Given the description of an element on the screen output the (x, y) to click on. 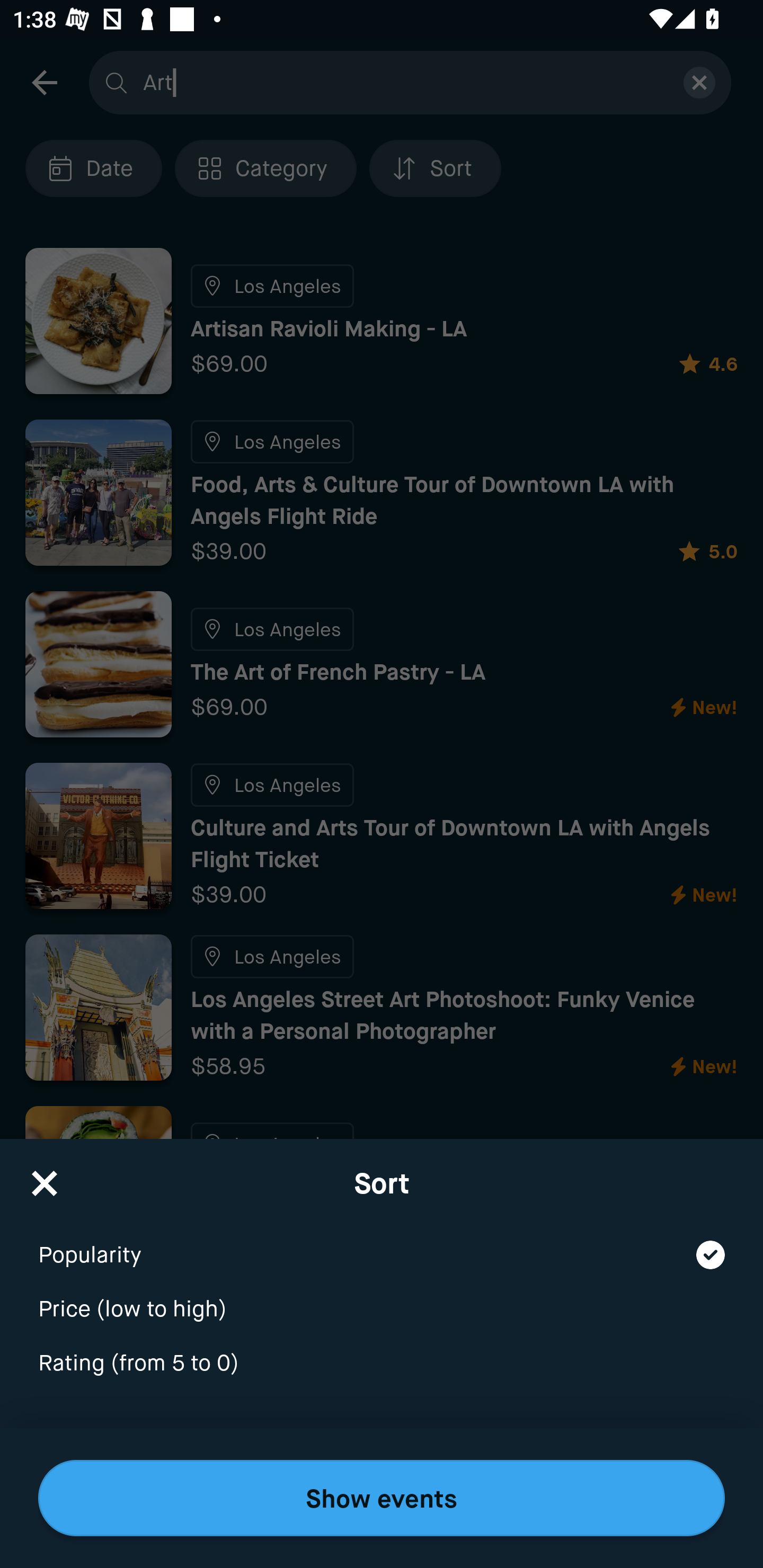
CloseButton (44, 1177)
Popularity Selected Icon (381, 1243)
Price (low to high) (381, 1297)
Rating (from 5 to 0) (381, 1362)
Show events (381, 1497)
